Given the description of an element on the screen output the (x, y) to click on. 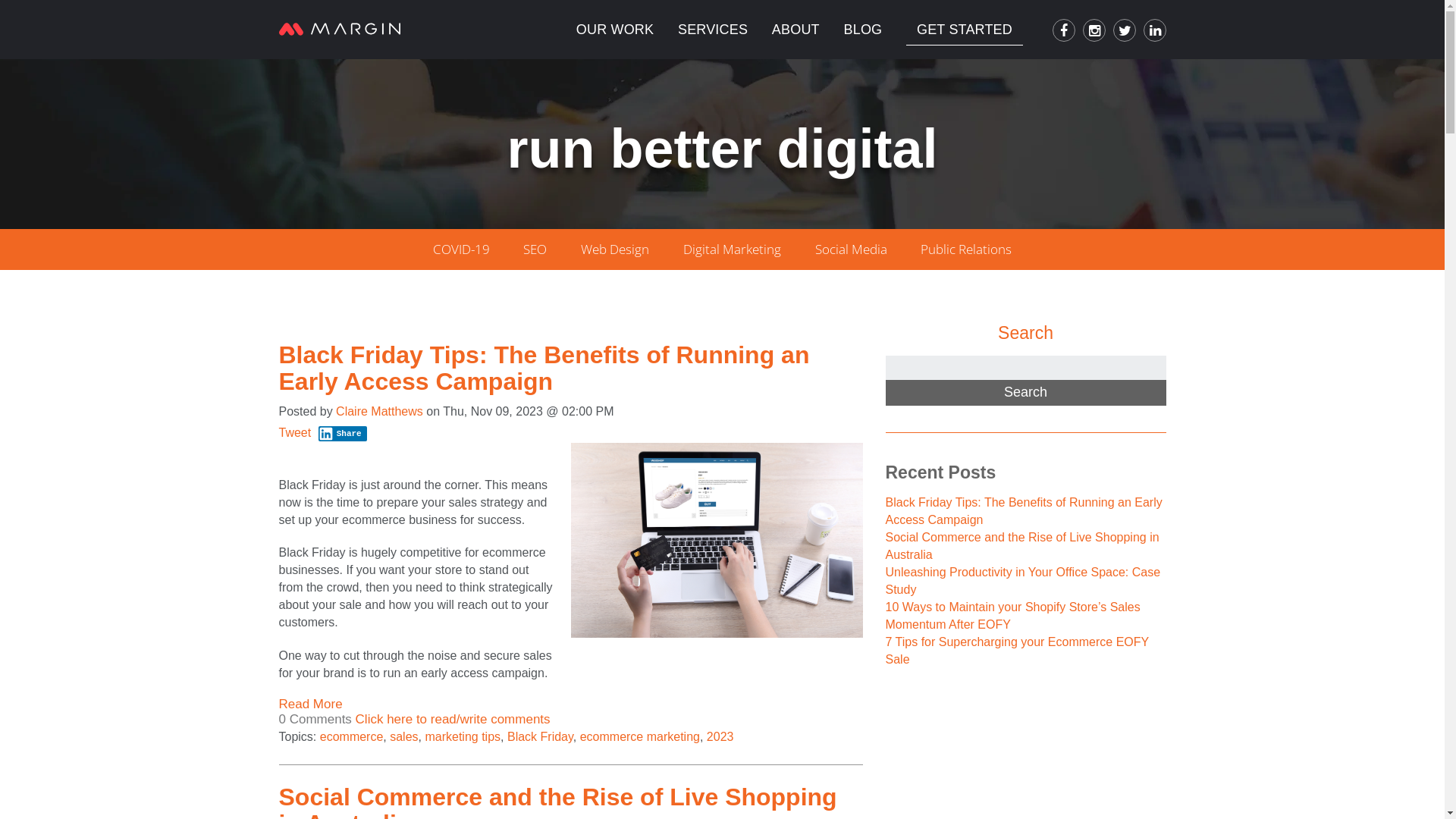
instagram Element type: hover (1093, 29)
sales Element type: text (403, 736)
Click here to read/write comments Element type: text (452, 719)
Claire Matthews Element type: text (379, 410)
Digital Marketing Element type: text (732, 248)
BLOG Element type: text (862, 29)
7 Tips for Supercharging your Ecommerce EOFY Sale Element type: text (1016, 650)
marketing tips Element type: text (462, 736)
2023 Element type: text (720, 736)
Public Relations Element type: text (965, 248)
SEO Element type: text (534, 248)
Tweet Element type: text (295, 432)
OUR WORK Element type: text (614, 29)
Search Element type: text (1025, 392)
Black Friday Element type: text (540, 736)
SERVICES Element type: text (712, 29)
Share Element type: text (342, 433)
Social Media Element type: text (851, 248)
GET STARTED Element type: text (963, 29)
ecommerce marketing Element type: text (639, 736)
facebook Element type: hover (1063, 29)
ecommerce Element type: text (351, 736)
Read More Element type: text (310, 703)
Web Design Element type: text (614, 248)
COVID-19 Element type: text (461, 248)
twitter Element type: hover (1124, 29)
Unleashing Productivity in Your Office Space: Case Study Element type: text (1023, 580)
Social Commerce and the Rise of Live Shopping in Australia Element type: text (1022, 545)
linkedin Element type: hover (1154, 29)
ABOUT Element type: text (795, 29)
